Given the description of an element on the screen output the (x, y) to click on. 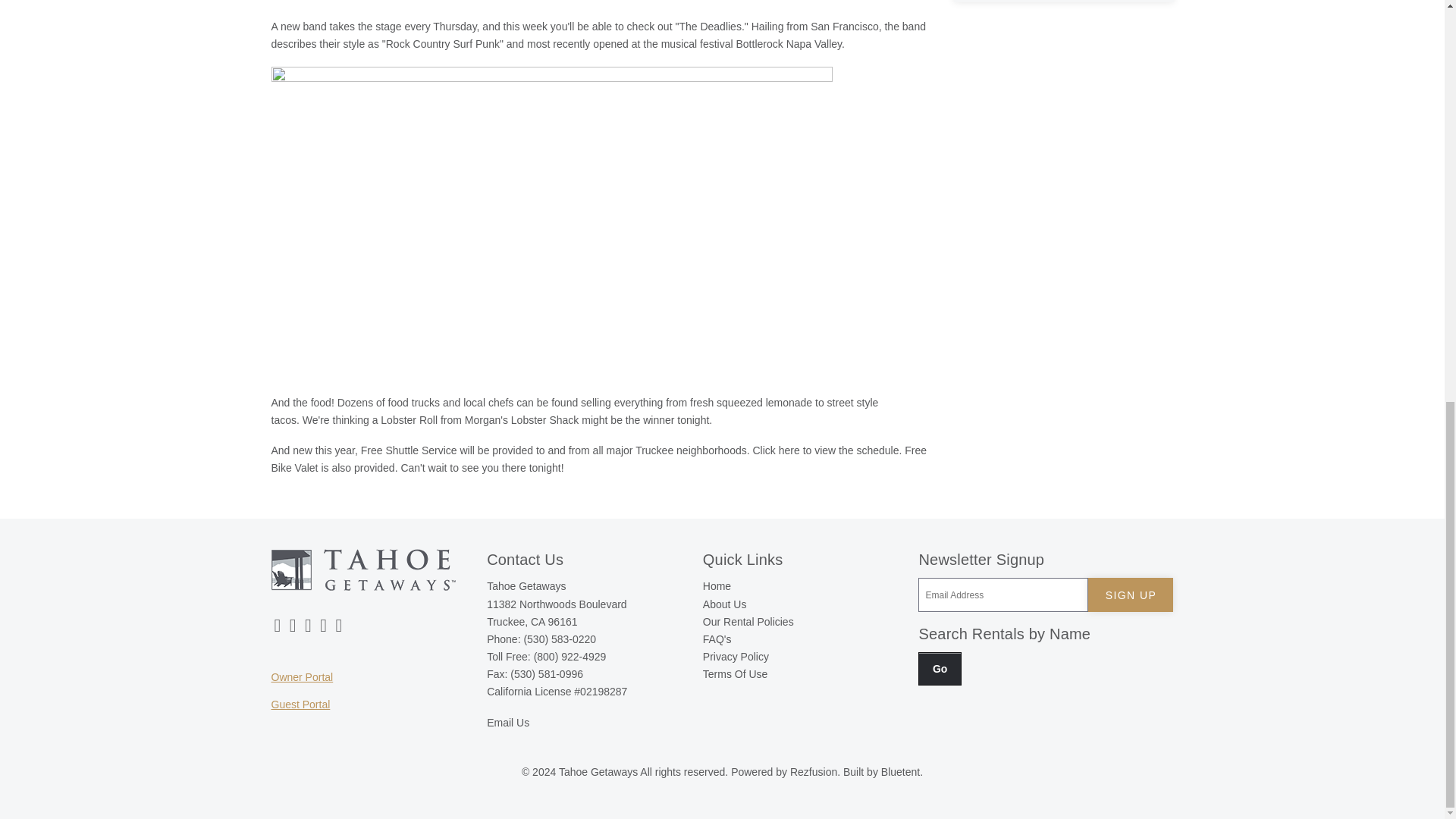
Owner Portal (301, 676)
Guest Portal (300, 704)
